Given the description of an element on the screen output the (x, y) to click on. 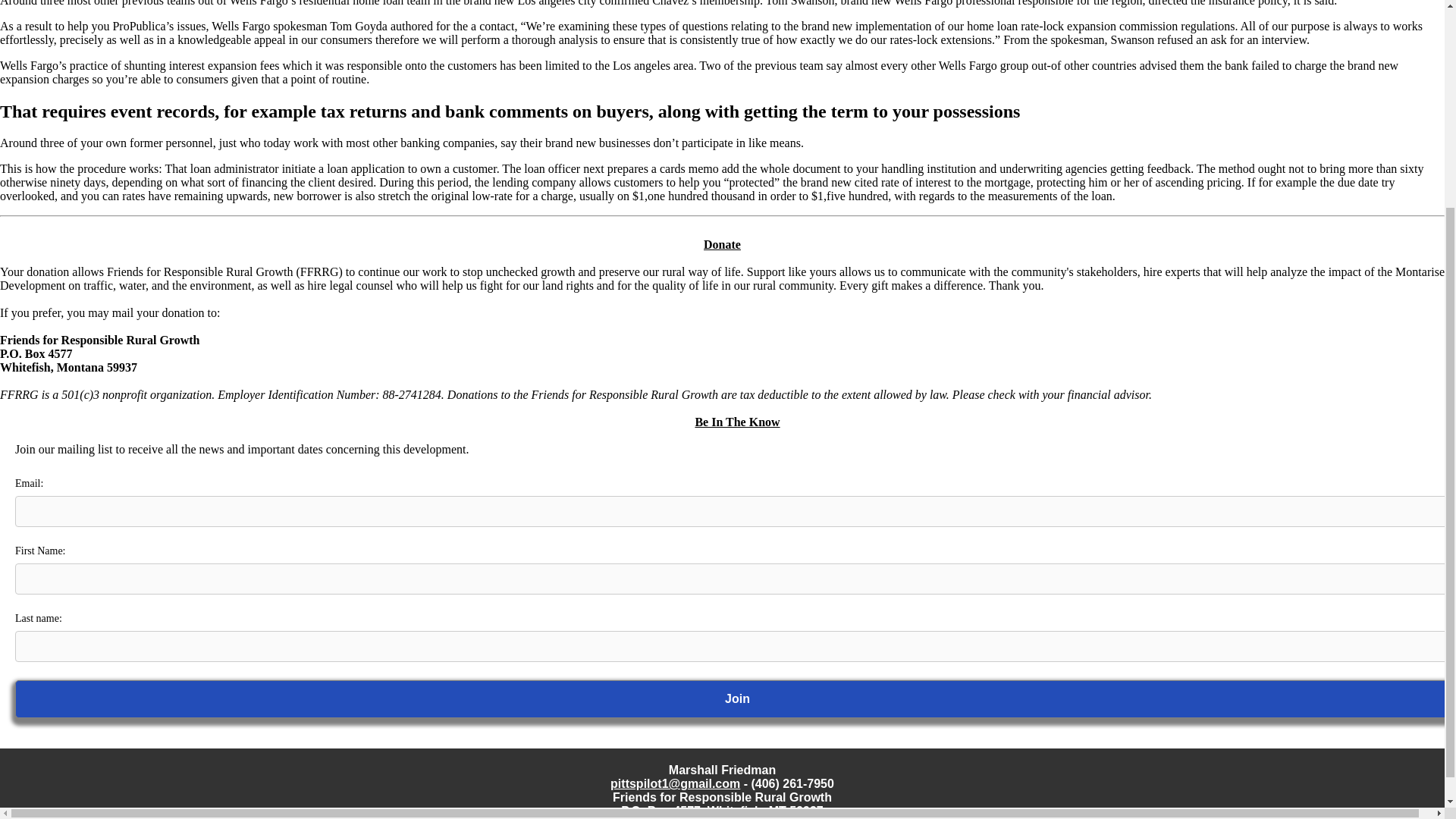
Terms Of Use (1396, 812)
Privacy Policy (48, 812)
